Given the description of an element on the screen output the (x, y) to click on. 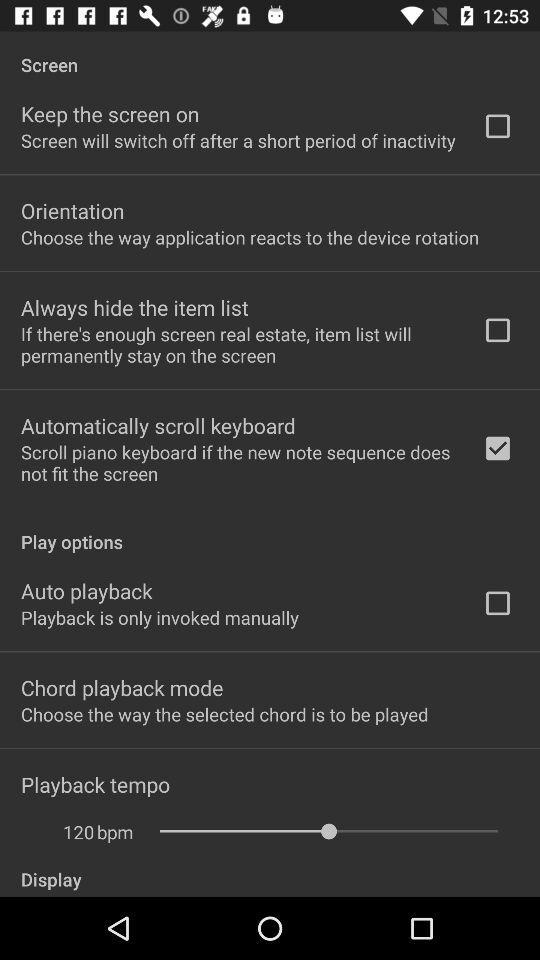
open the icon below playback is only app (122, 687)
